Given the description of an element on the screen output the (x, y) to click on. 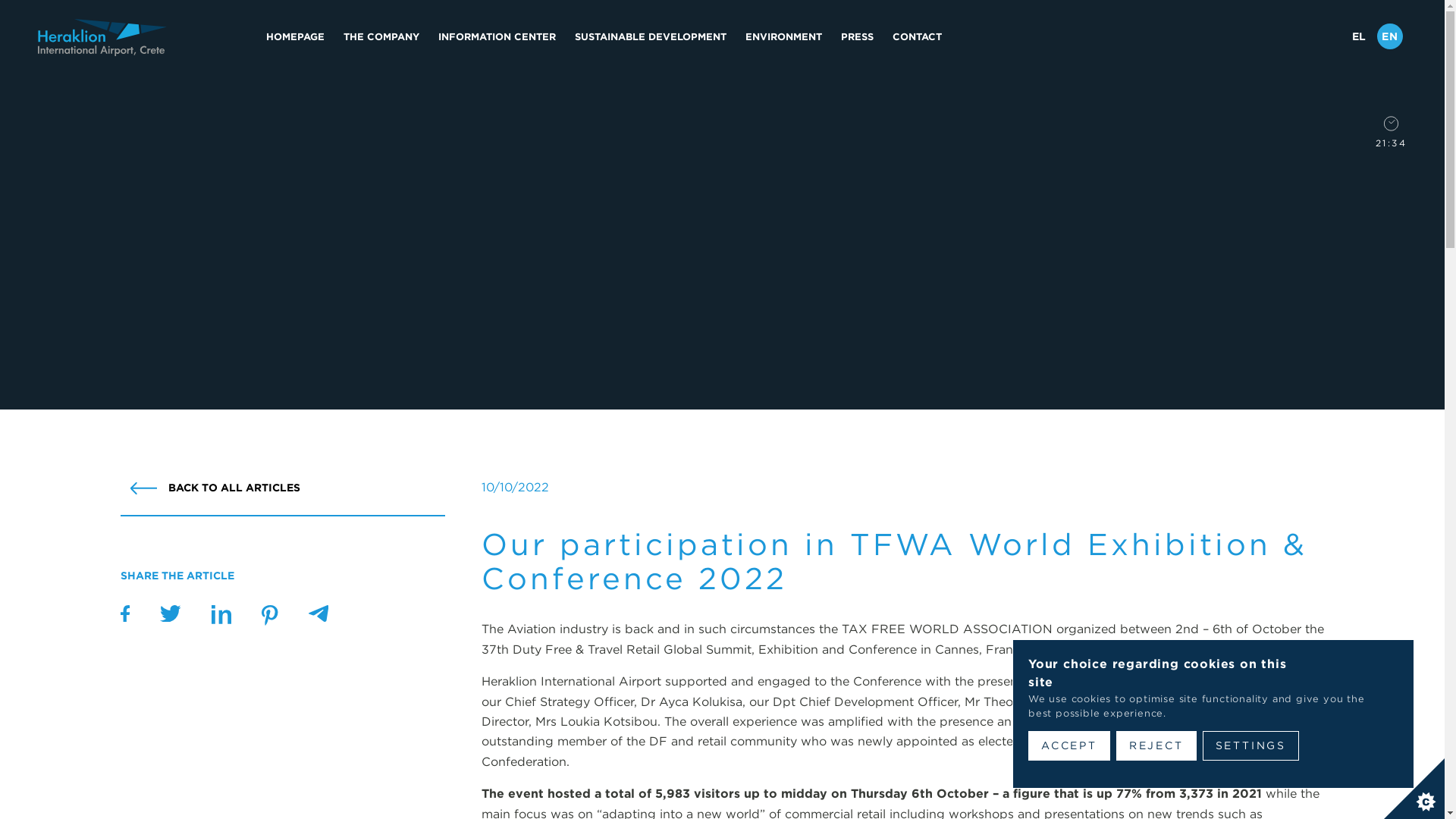
Greek (1358, 36)
EN (1390, 36)
ACCEPT (1068, 745)
EL (1358, 36)
Share on Twitter (270, 621)
Share on Twitter (221, 619)
Share on Twitter (318, 617)
REJECT (1156, 745)
Share on Twitter (170, 617)
HOMEPAGE (295, 36)
